Given the description of an element on the screen output the (x, y) to click on. 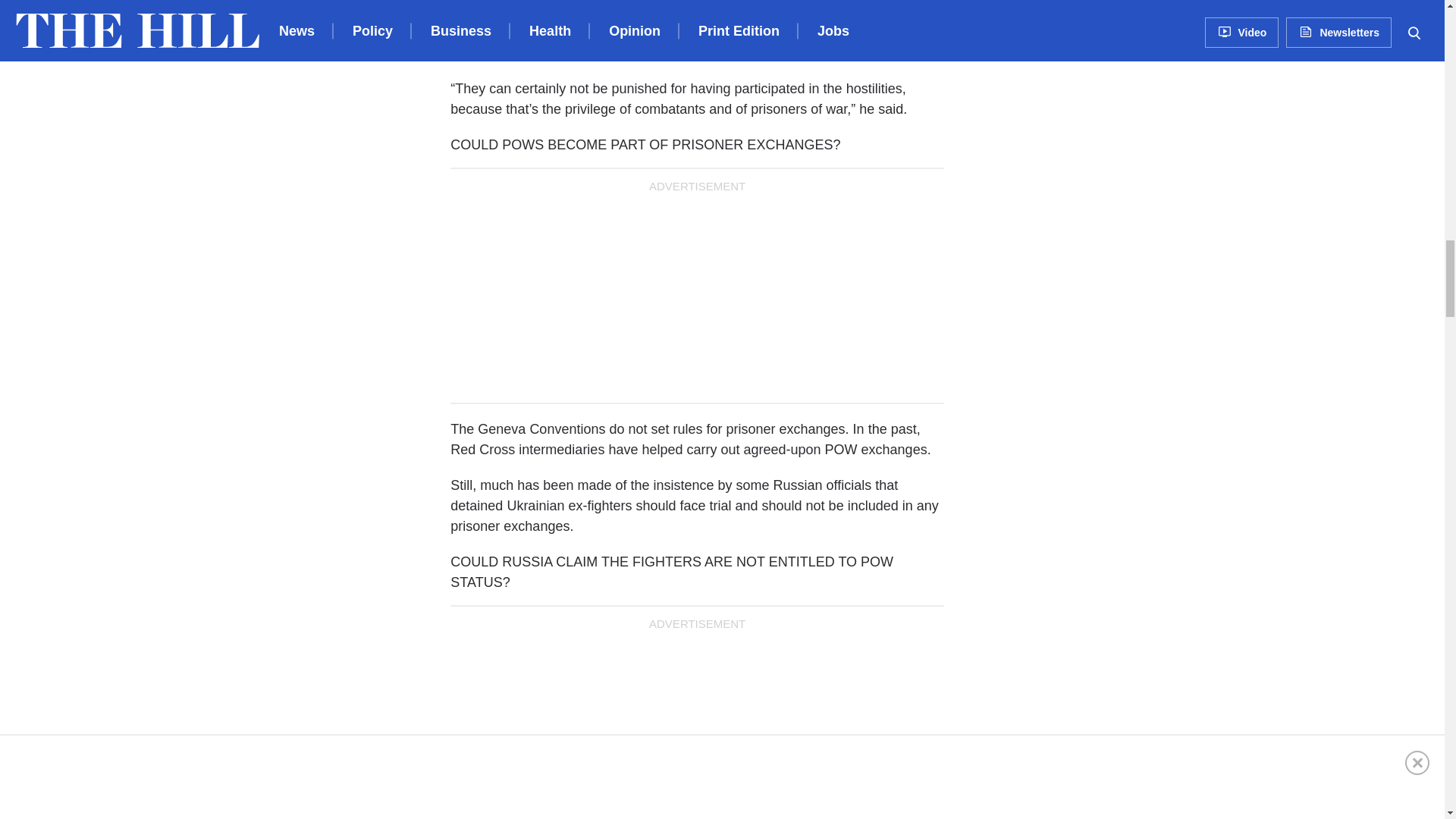
3rd party ad content (696, 728)
3rd party ad content (696, 294)
